Given the description of an element on the screen output the (x, y) to click on. 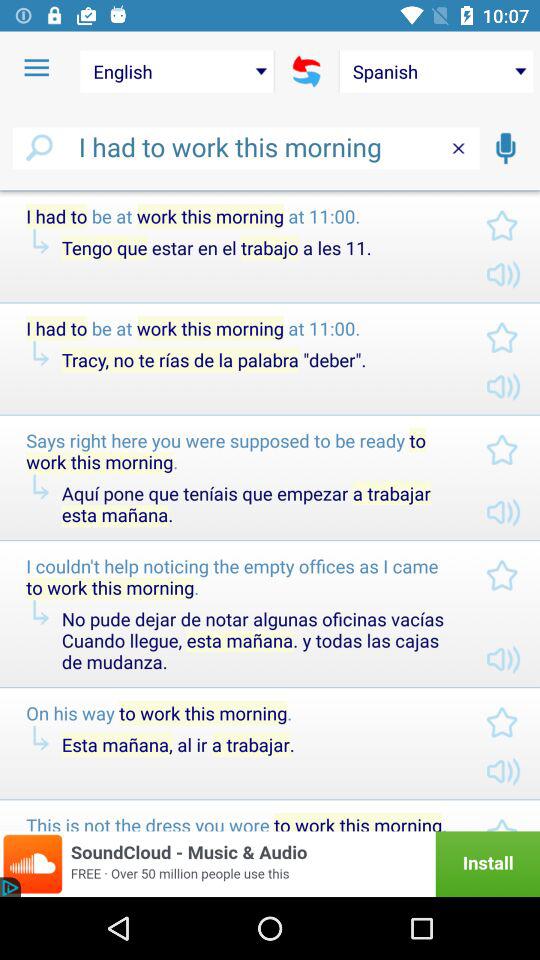
switch to record (505, 148)
